Given the description of an element on the screen output the (x, y) to click on. 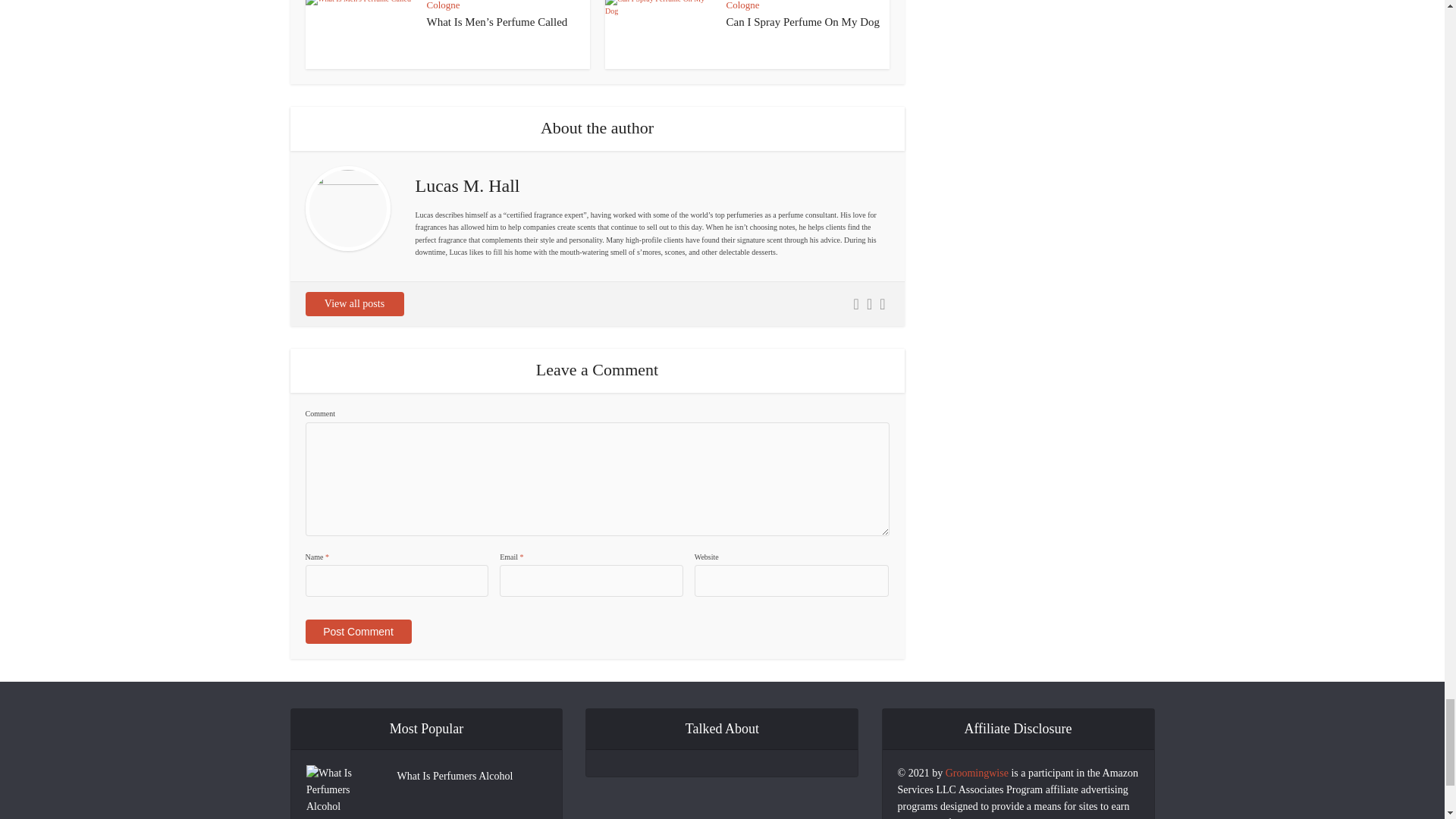
Post Comment (357, 631)
